Given the description of an element on the screen output the (x, y) to click on. 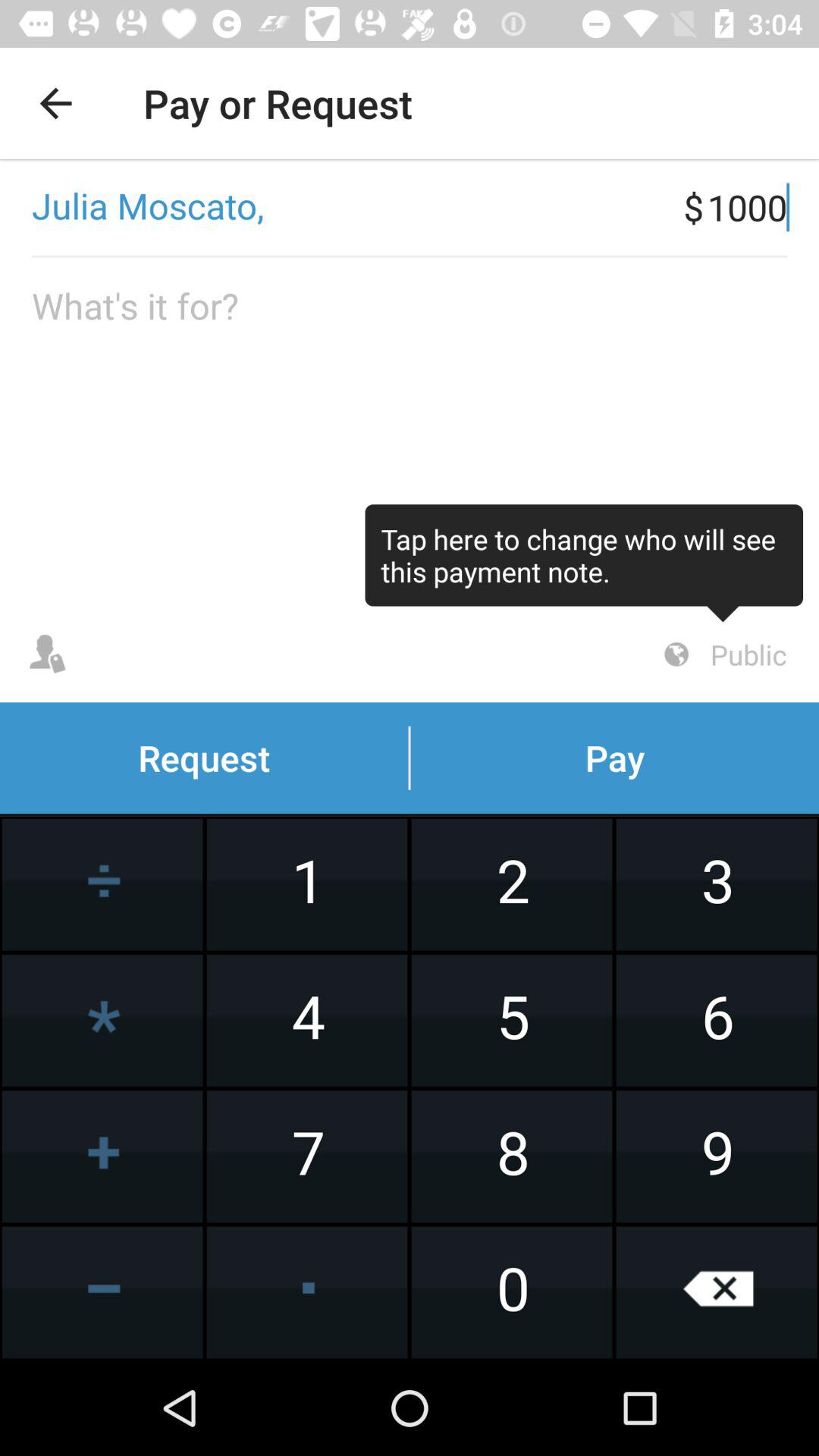
turn off the item to the right of the request icon (722, 654)
